Given the description of an element on the screen output the (x, y) to click on. 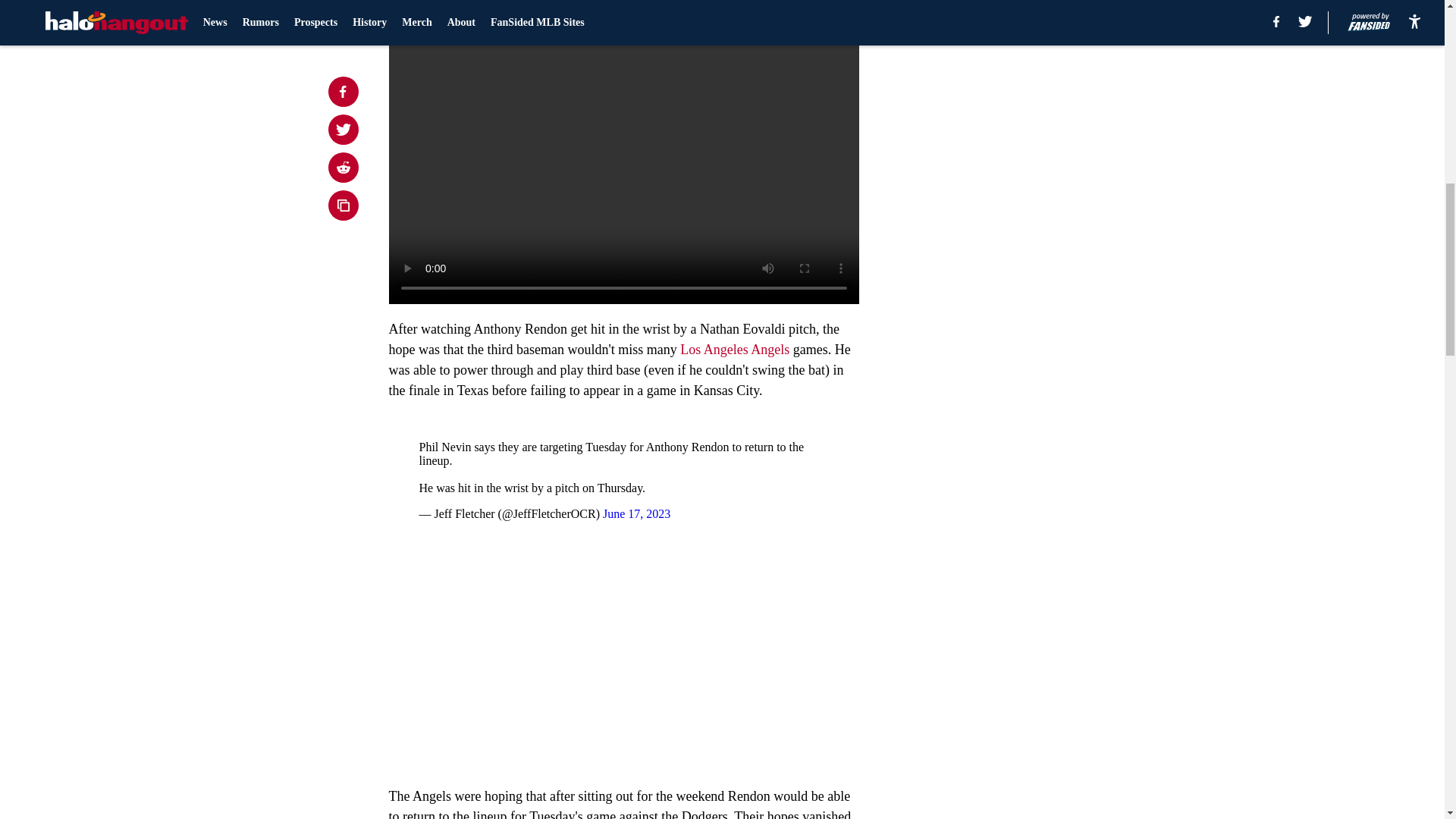
Los Angeles Angels (733, 349)
3rd party ad content (1047, 353)
3rd party ad content (1047, 134)
June 17, 2023 (635, 513)
